Given the description of an element on the screen output the (x, y) to click on. 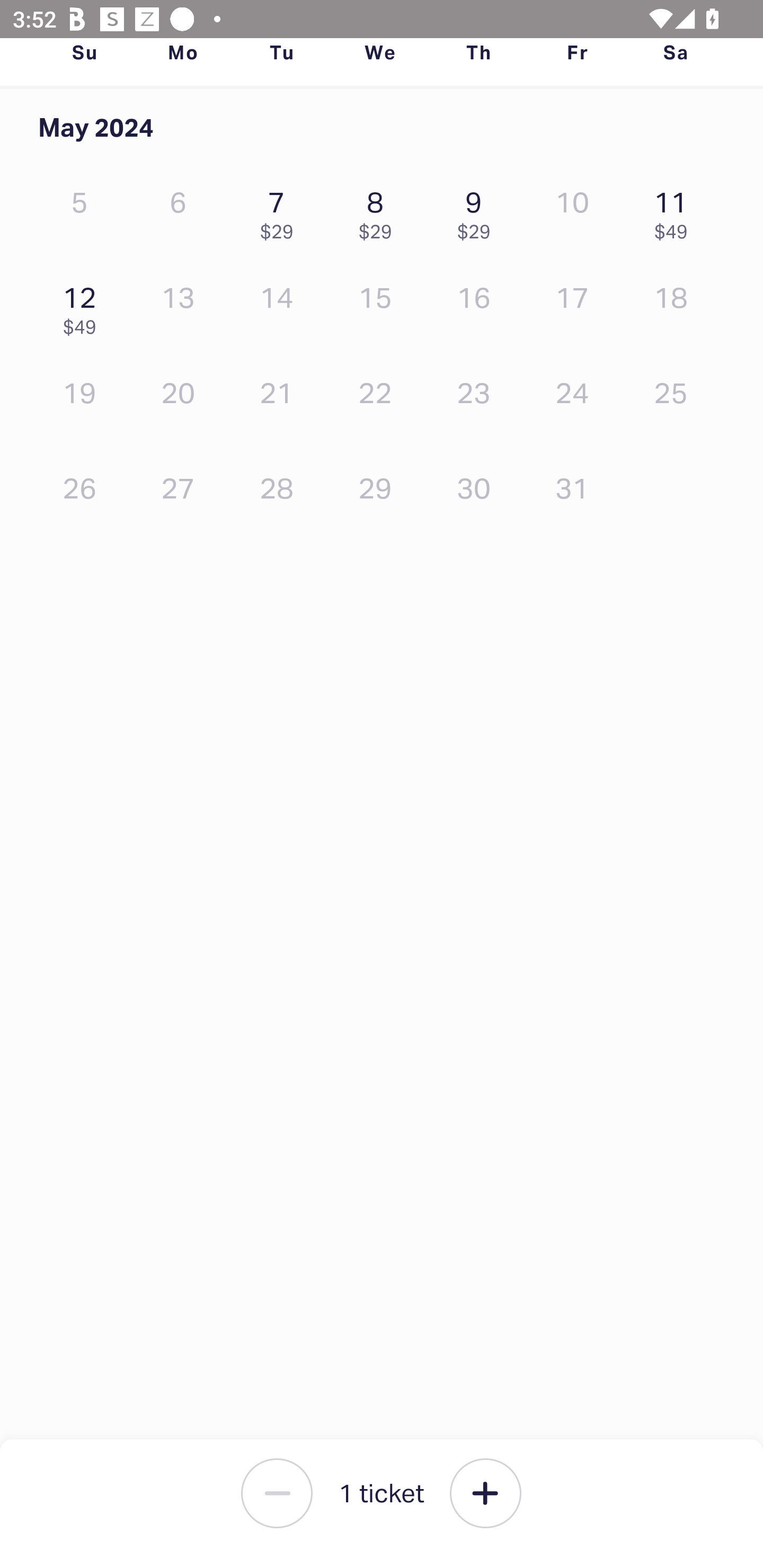
7 $29 (281, 210)
8 $29 (379, 210)
9 $29 (478, 210)
11 $49 (675, 210)
12 $49 (84, 306)
